Given the description of an element on the screen output the (x, y) to click on. 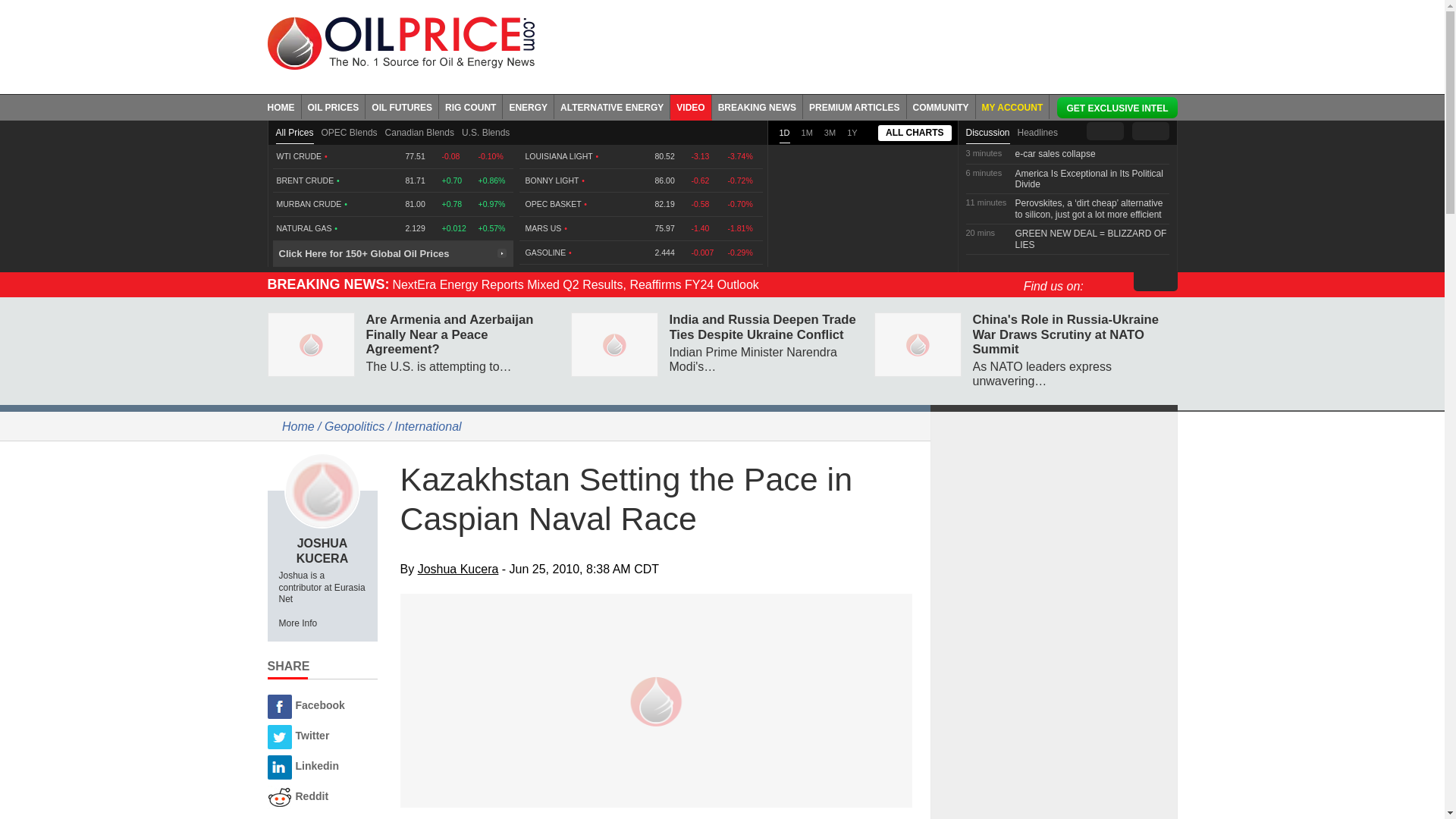
VIDEO (690, 106)
HOME (283, 106)
RIG COUNT (470, 106)
Oil prices - Oilprice.com (400, 42)
ENERGY (528, 106)
ALTERNATIVE ENERGY (611, 106)
BREAKING NEWS (757, 106)
MY ACCOUNT (1012, 106)
OIL FUTURES (402, 106)
OIL PRICES (333, 106)
PREMIUM ARTICLES (855, 106)
Joshua Kucera (321, 490)
COMMUNITY (941, 106)
